Given the description of an element on the screen output the (x, y) to click on. 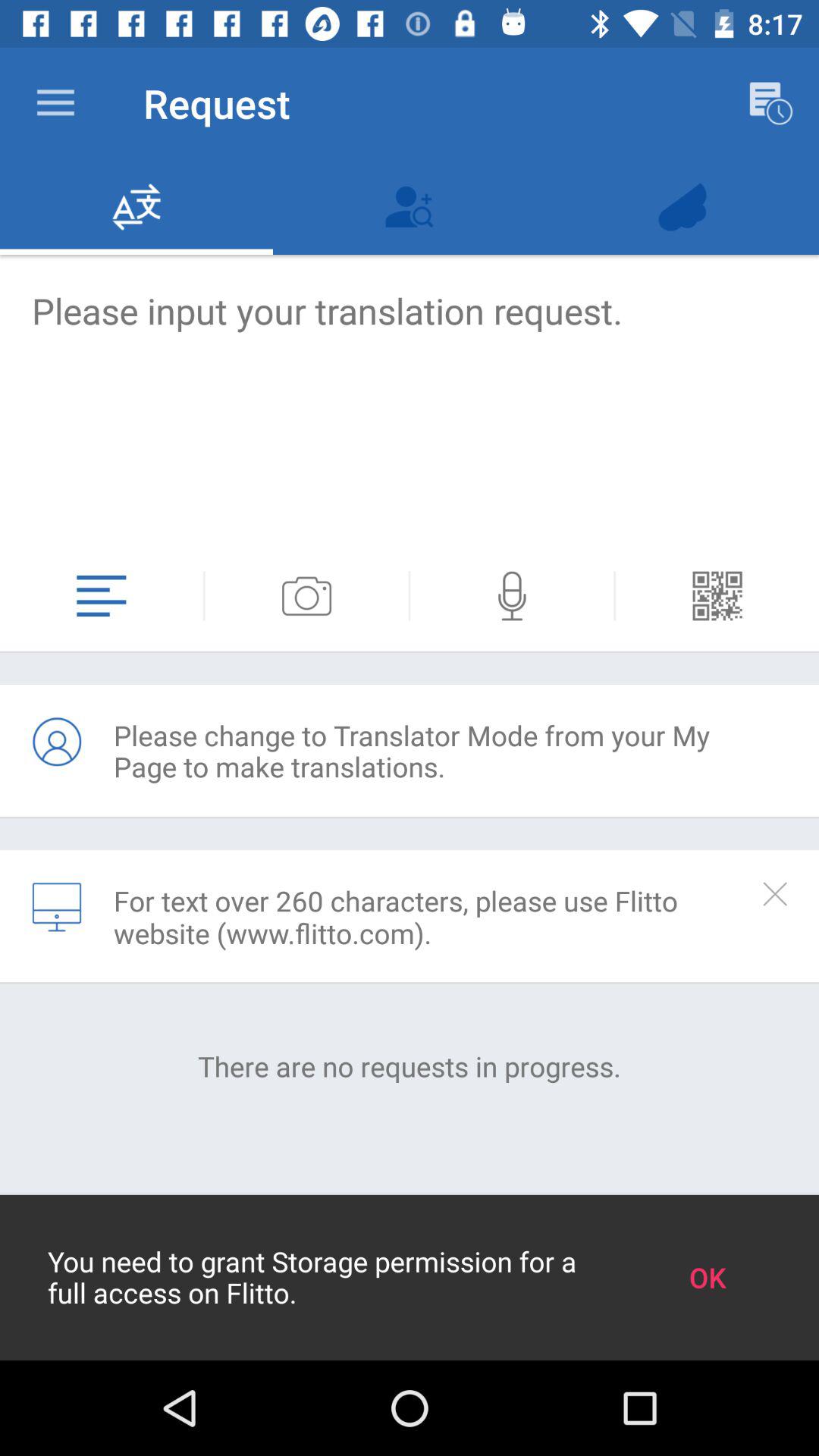
turn off the icon above the please change to item (717, 596)
